Given the description of an element on the screen output the (x, y) to click on. 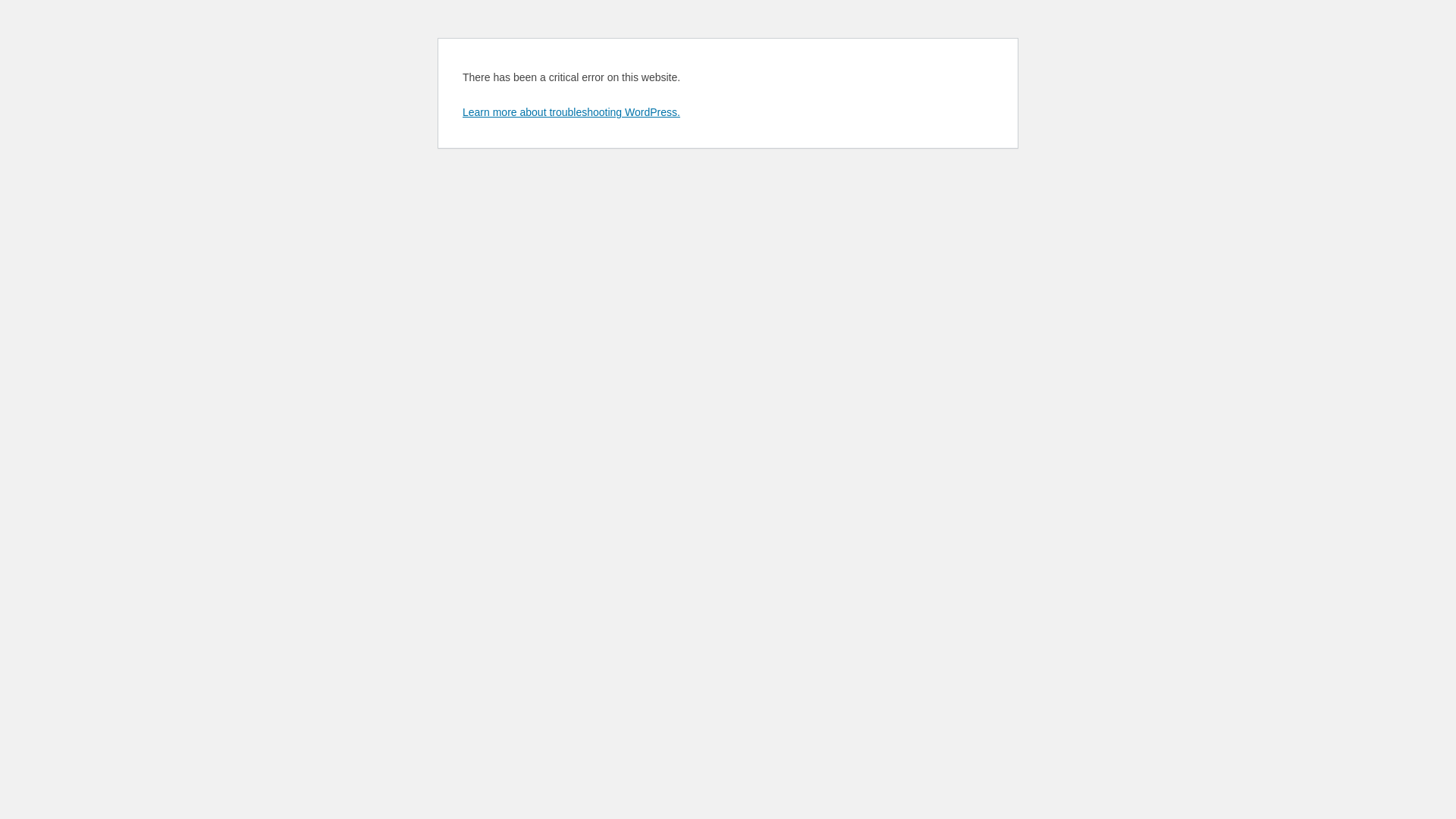
Learn more about troubleshooting WordPress. Element type: text (571, 112)
